Given the description of an element on the screen output the (x, y) to click on. 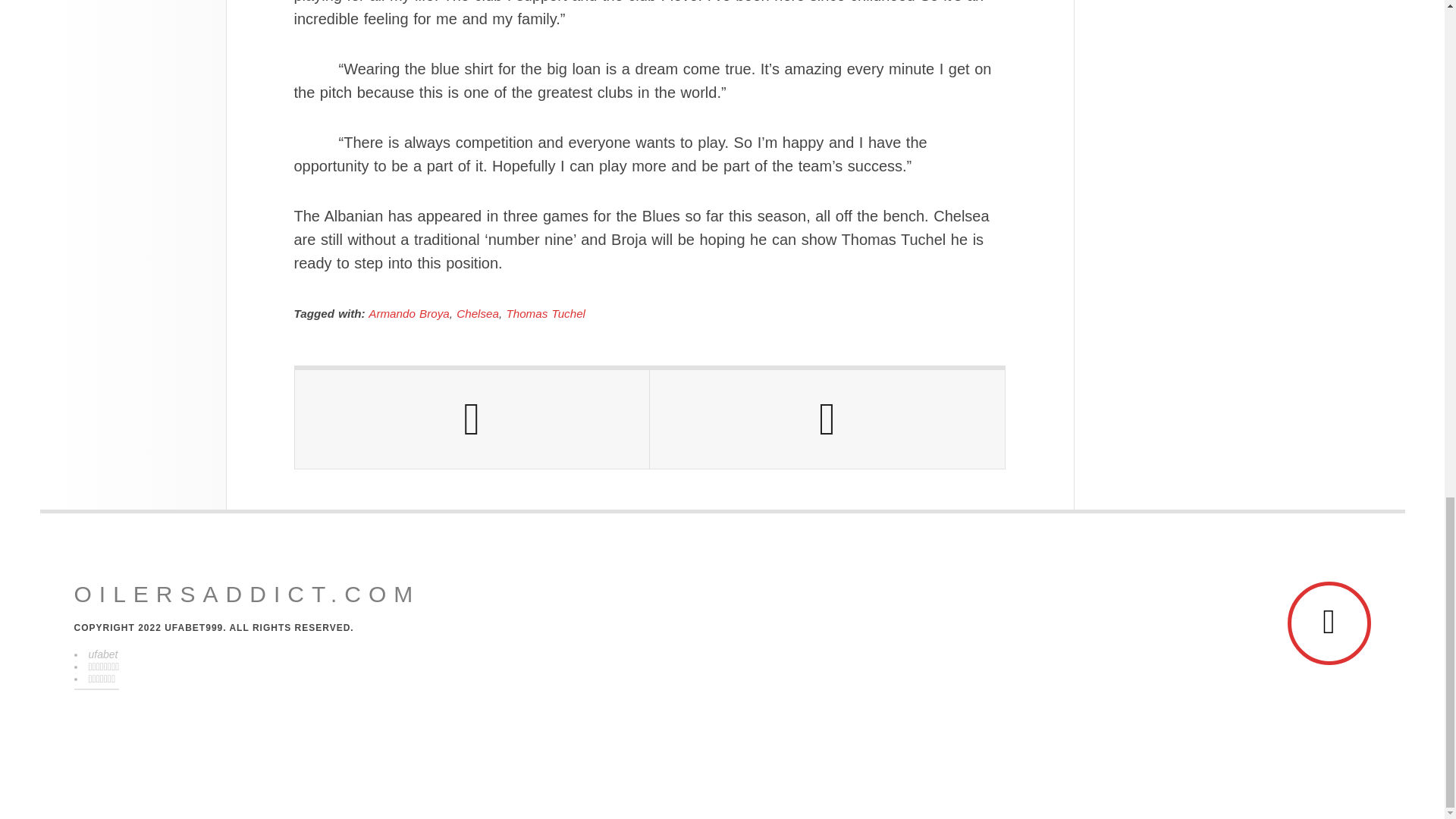
Previous Post (471, 419)
Next Post (826, 419)
Thomas Tuchel (545, 313)
ufabet (102, 654)
Chelsea (478, 313)
Armando Broya (408, 313)
OilersAddict.com (247, 594)
OILERSADDICT.COM (247, 594)
